Given the description of an element on the screen output the (x, y) to click on. 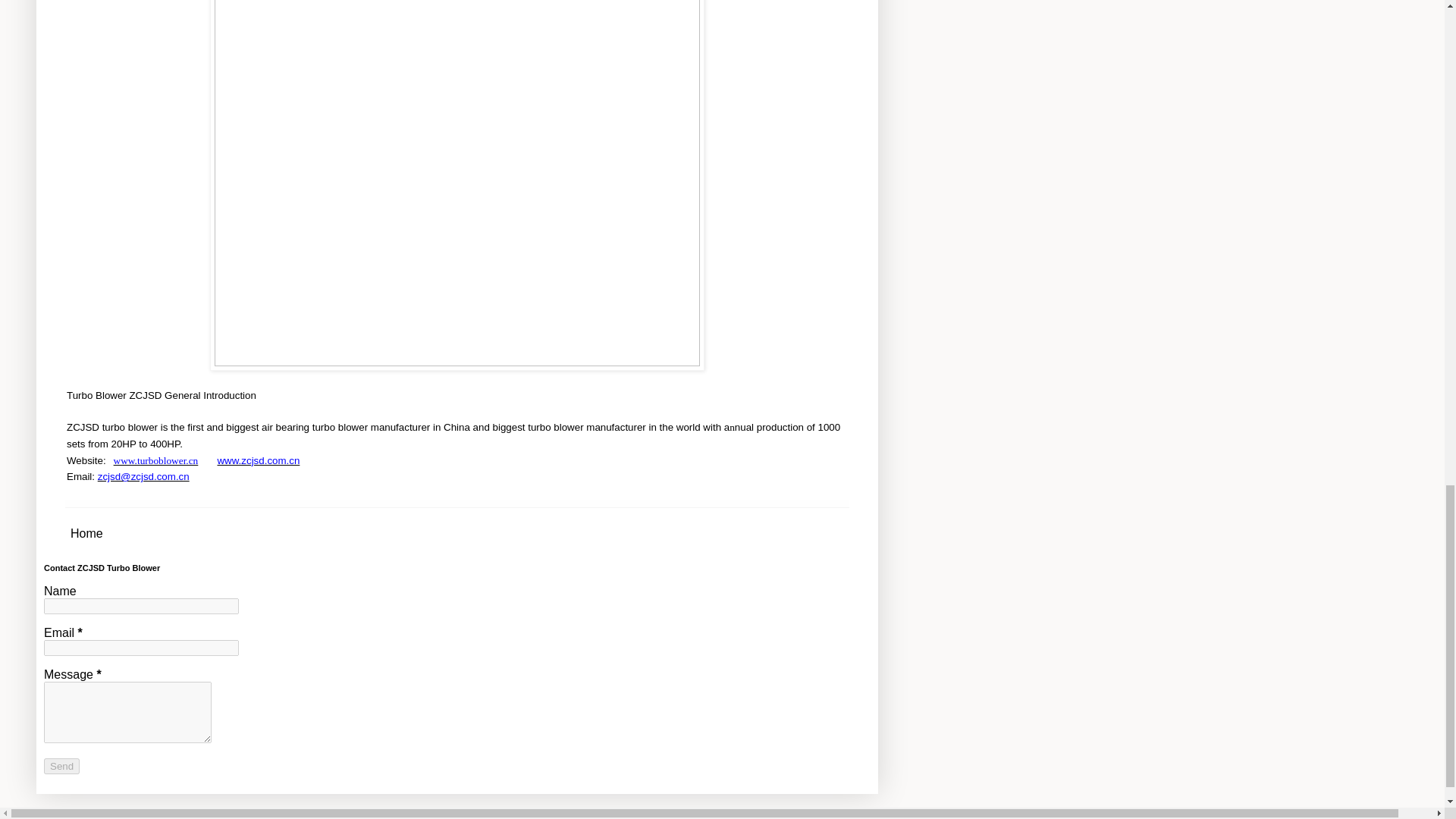
Home (86, 533)
www.zcjsd.com.cn (257, 459)
www.turboblower.cn (155, 459)
Send (61, 765)
